Given the description of an element on the screen output the (x, y) to click on. 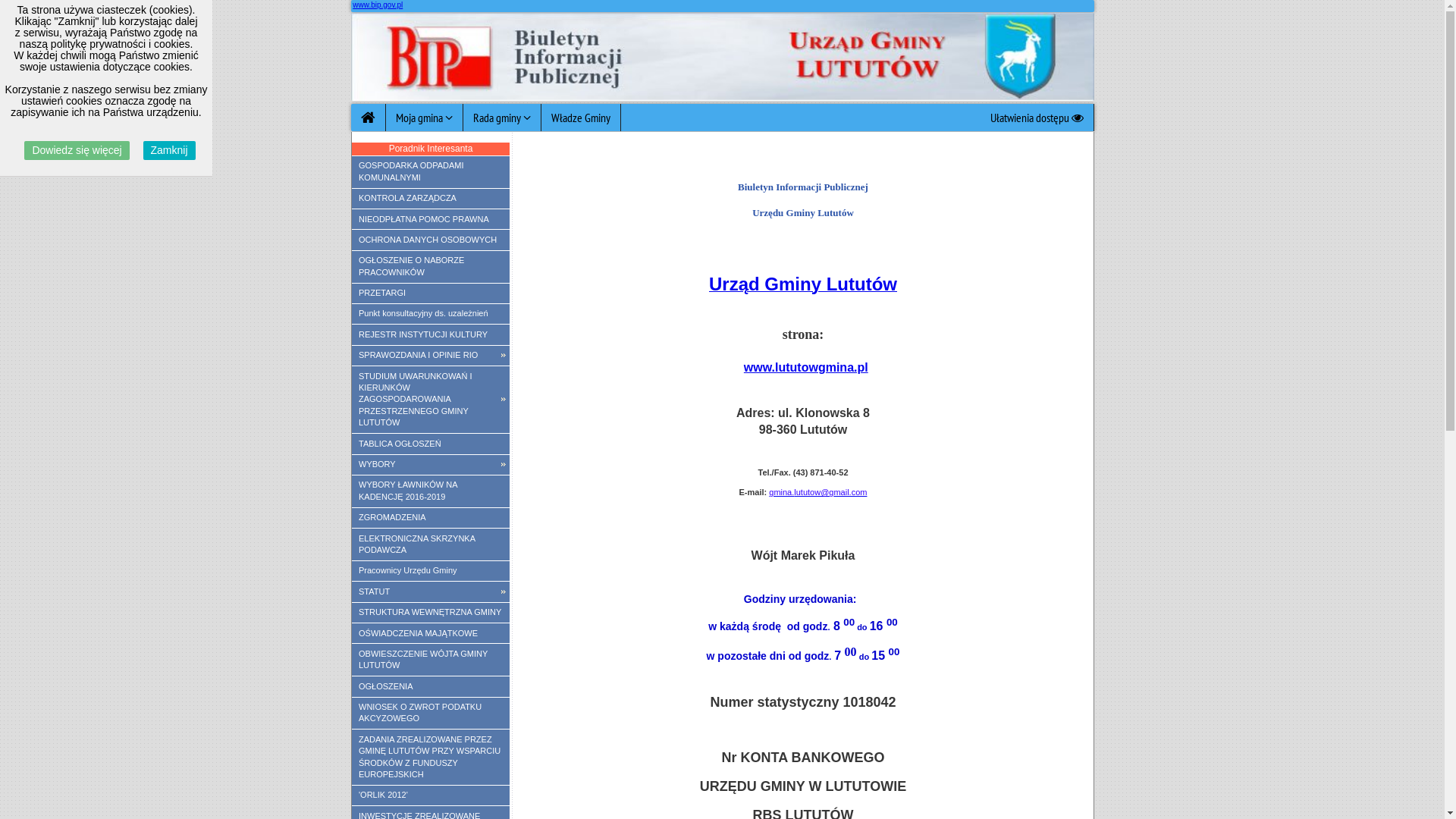
ZGROMADZENIA Element type: text (430, 517)
www.lututowgmina.pl Element type: text (805, 366)
Zamknij Element type: text (169, 150)
www.bip.gov.pl Element type: text (377, 4)
mail.com Element type: text (849, 491)
'ORLIK 2012' Element type: text (430, 795)
REJESTR INSTYTUCJI KULTURY Element type: text (430, 334)
STATUT Element type: text (430, 591)
GOSPODARKA ODPADAMI KOMUNALNYMI Element type: text (430, 172)
WYBORY Element type: text (430, 464)
PRZETARGI Element type: text (430, 293)
SPRAWOZDANIA I OPINIE RIO Element type: text (430, 355)
WNIOSEK O ZWROT PODATKU AKCYZOWEGO Element type: text (430, 713)
OCHRONA DANYCH OSOBOWYCH Element type: text (430, 239)
gmina. Element type: text (780, 491)
lututow@g Element type: text (813, 491)
Moja gmina Element type: text (423, 117)
Rada gminy Element type: text (501, 117)
ELEKTRONICZNA SKRZYNKA PODAWCZA Element type: text (430, 544)
